Given the description of an element on the screen output the (x, y) to click on. 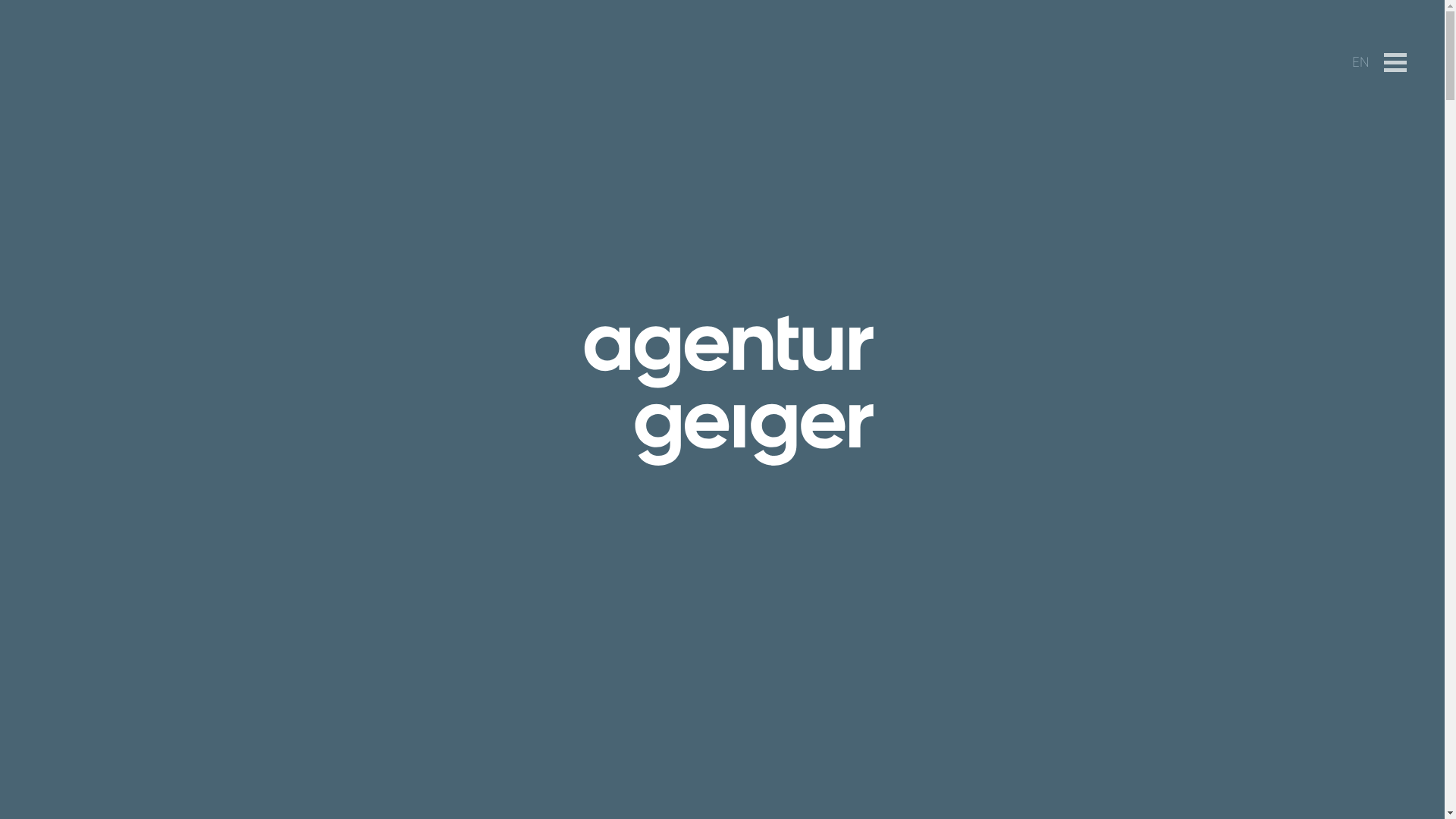
EN Element type: text (1360, 61)
